Given the description of an element on the screen output the (x, y) to click on. 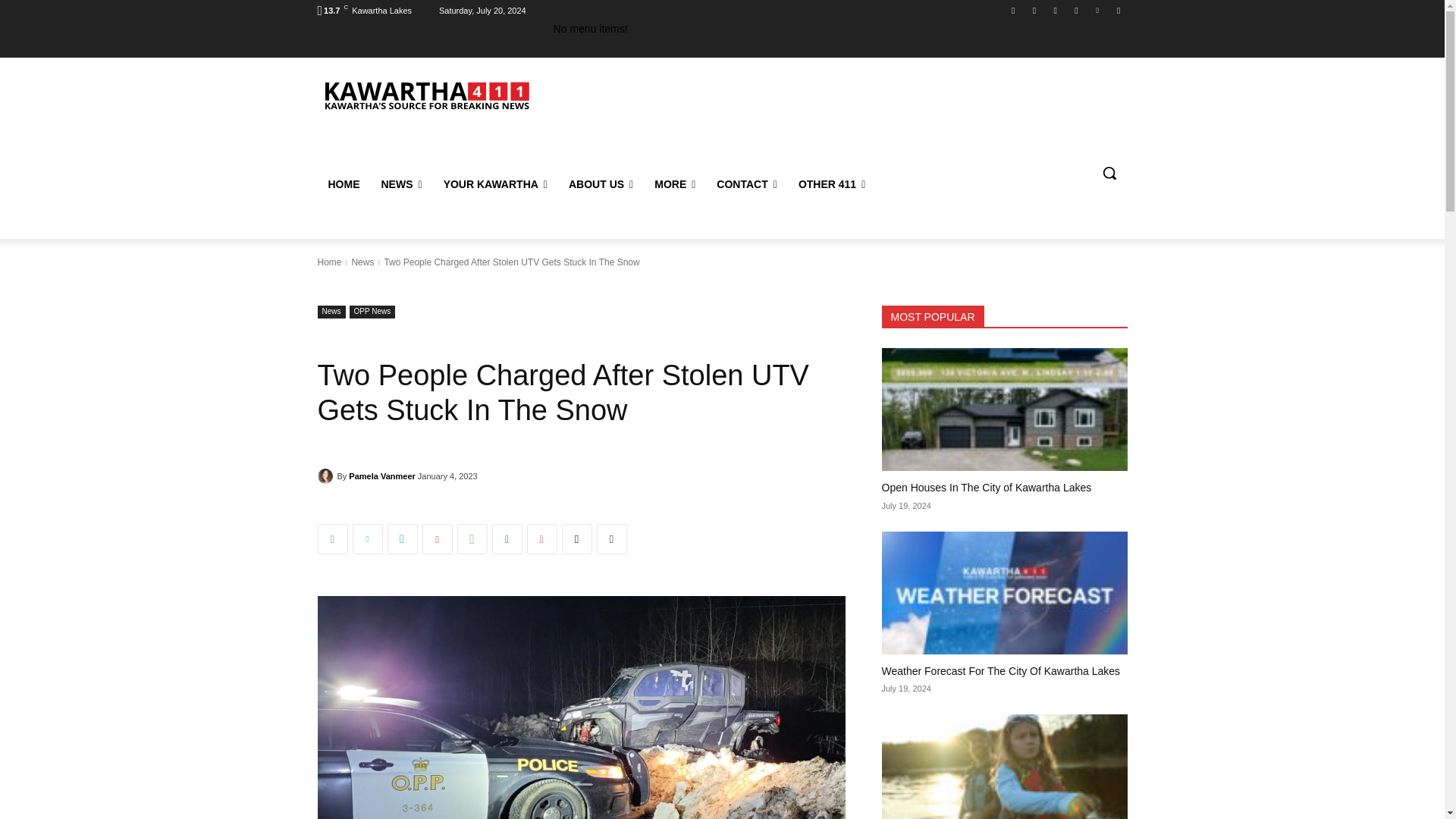
Kawartha 411 News (425, 94)
Facebook (1013, 9)
3rd party ad content (849, 113)
Youtube (1117, 9)
Telegram (1075, 9)
Twitter (1097, 9)
Paypal (1055, 9)
Instagram (1034, 9)
